Given the description of an element on the screen output the (x, y) to click on. 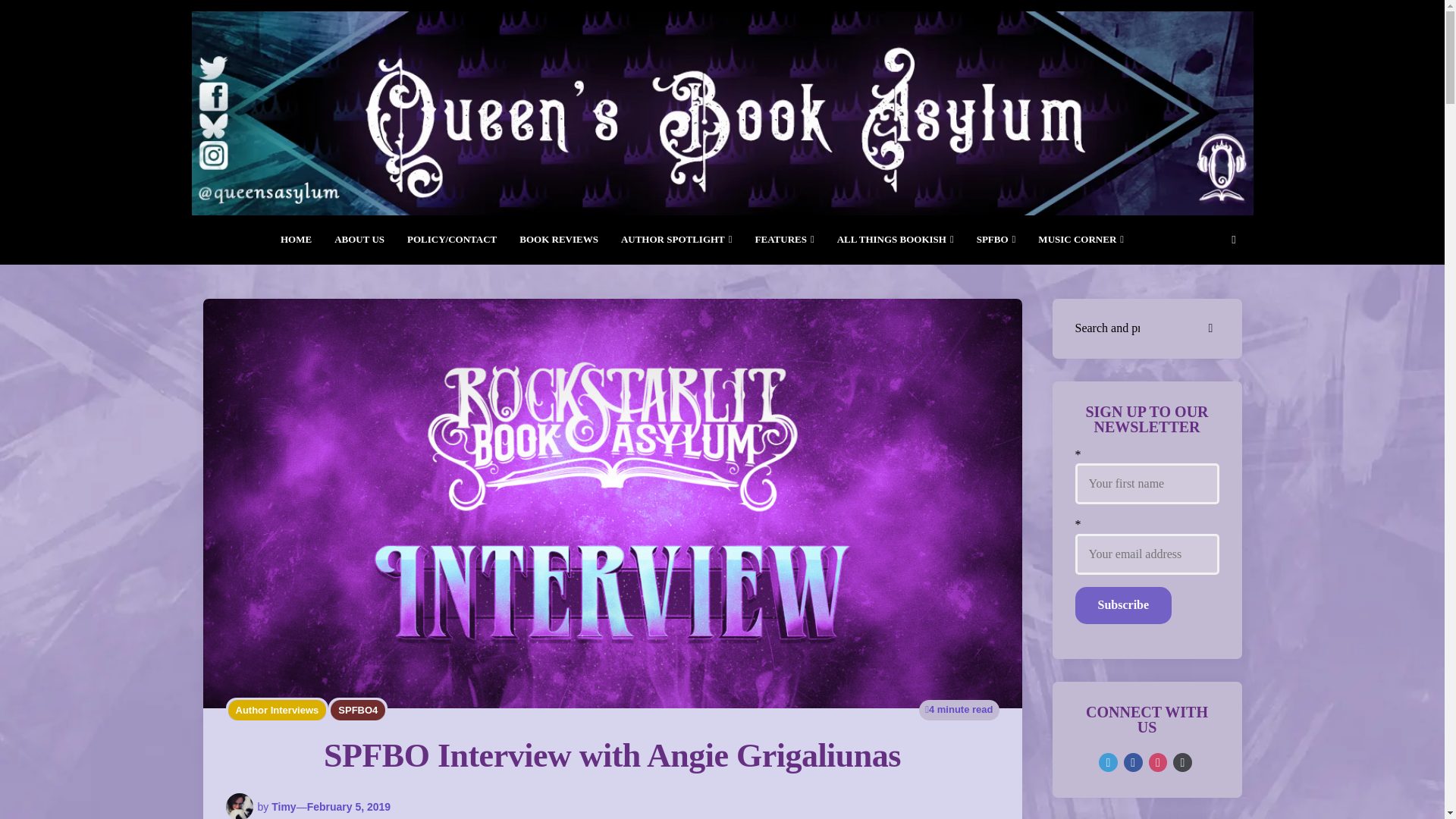
ALL THINGS BOOKISH (895, 239)
AUTHOR SPOTLIGHT (677, 239)
FEATURES (784, 239)
SPFBO (996, 239)
BOOK REVIEWS (559, 239)
ABOUT US (359, 239)
Subscribe (1123, 605)
HOME (296, 239)
